Given the description of an element on the screen output the (x, y) to click on. 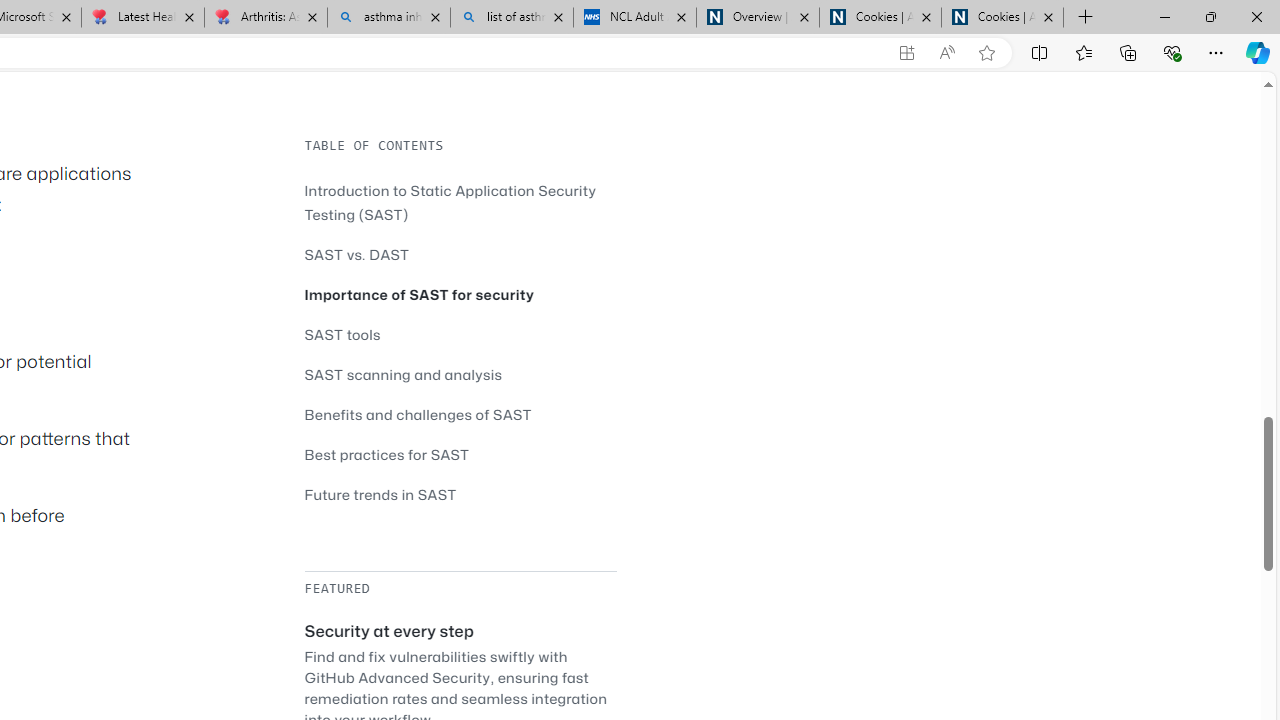
Best practices for SAST (460, 454)
Cookies | About | NICE (1002, 17)
Benefits and challenges of SAST (418, 414)
SAST tools (342, 334)
SAST vs. DAST (356, 254)
